Given the description of an element on the screen output the (x, y) to click on. 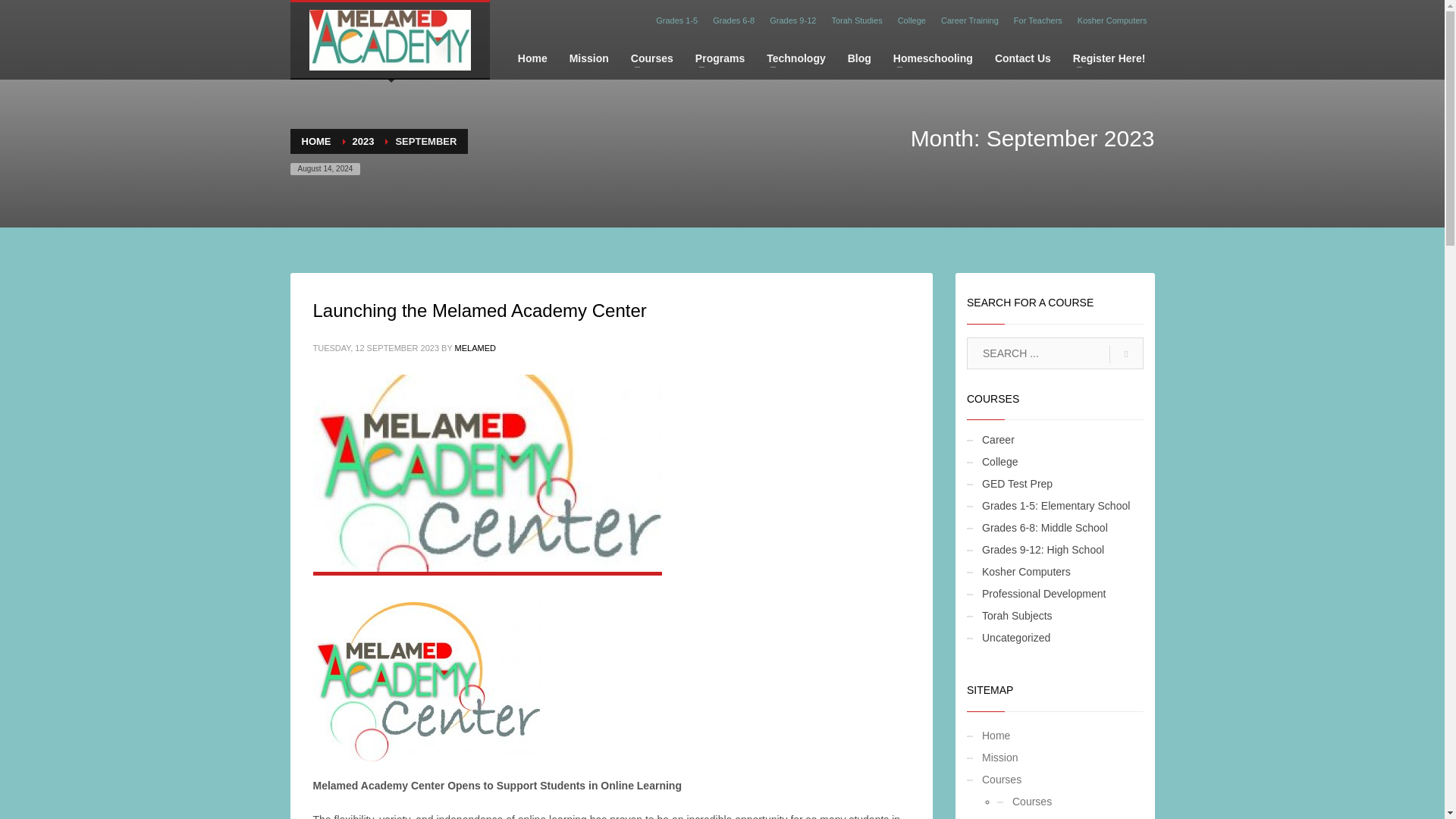
Technology (795, 57)
Programs (719, 57)
Grades 6-8 (733, 20)
Torah Studies (856, 20)
Grades 9-12 (792, 20)
For Teachers (1037, 20)
MELAMED ACADEMY2 (487, 472)
Posts by Melamed (475, 347)
Courses (651, 57)
Career Training (969, 20)
